Given the description of an element on the screen output the (x, y) to click on. 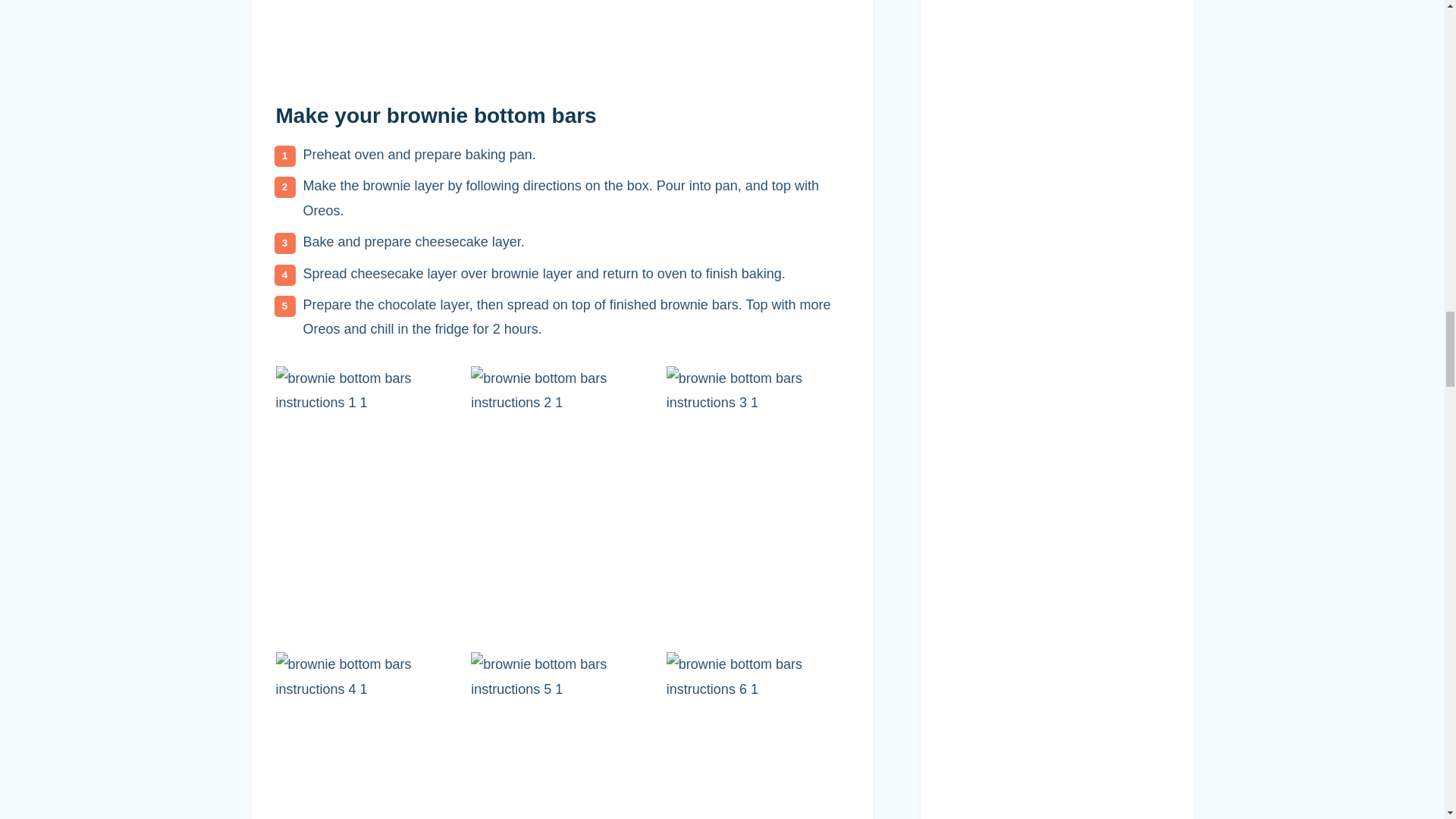
Brownie Bottom Bars 15 (367, 735)
Brownie Bottom Bars 11 (534, 33)
